Given the description of an element on the screen output the (x, y) to click on. 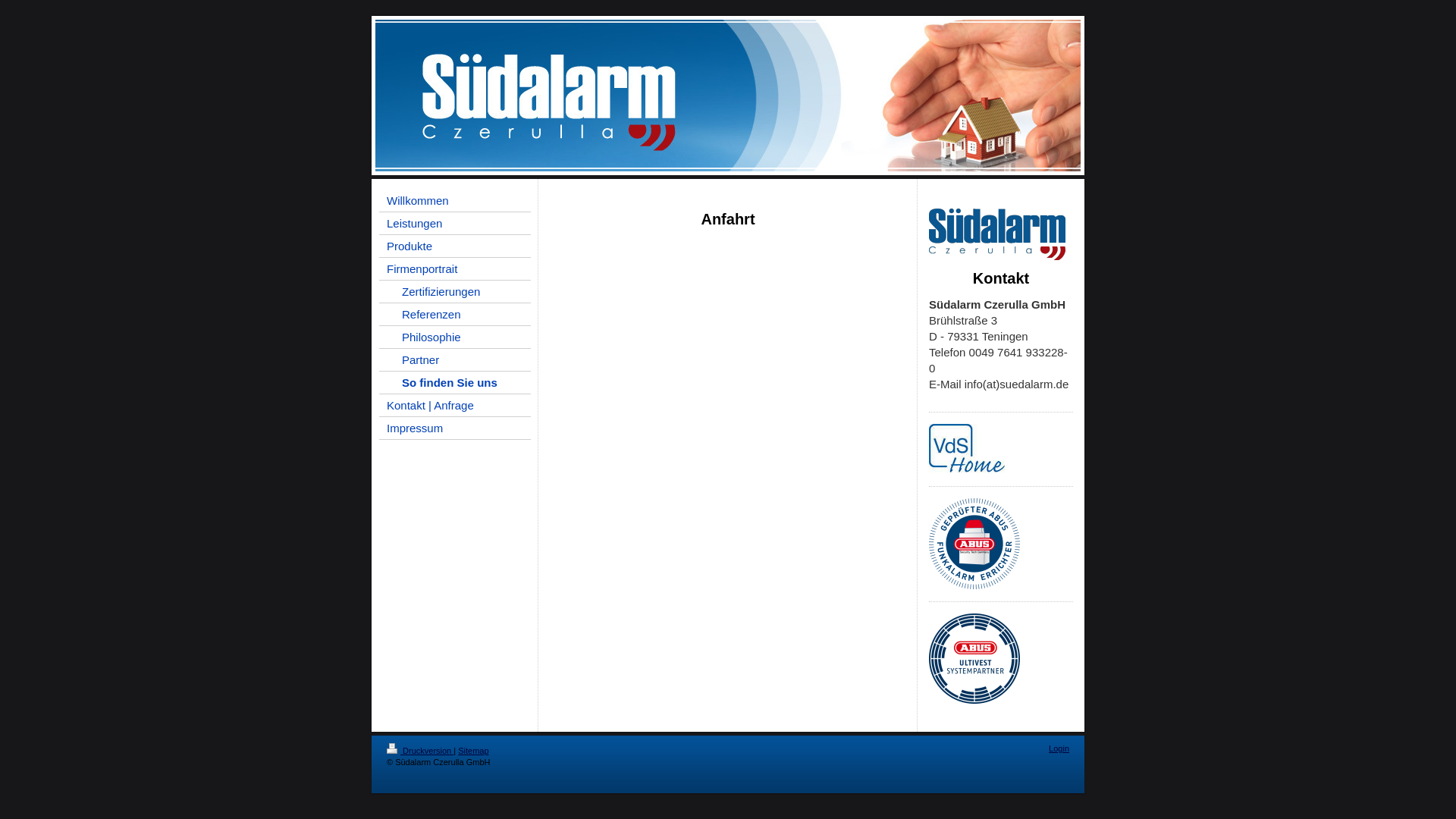
Kontakt | Anfrage Element type: text (454, 405)
Sitemap Element type: text (473, 750)
Partner Element type: text (454, 359)
Referenzen Element type: text (454, 314)
Produkte Element type: text (454, 246)
Impressum Element type: text (454, 428)
Login Element type: text (1058, 748)
Philosophie Element type: text (454, 337)
Willkommen Element type: text (454, 200)
Zertifizierungen Element type: text (454, 291)
Druckversion Element type: text (419, 750)
Leistungen Element type: text (454, 223)
Firmenportrait Element type: text (454, 268)
So finden Sie uns Element type: text (454, 382)
